Given the description of an element on the screen output the (x, y) to click on. 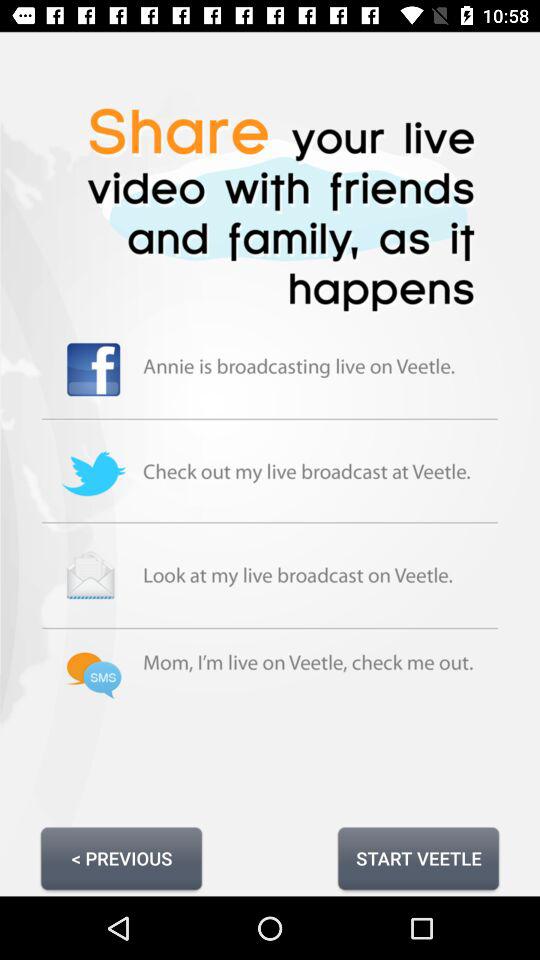
press the start veetle item (418, 858)
